Given the description of an element on the screen output the (x, y) to click on. 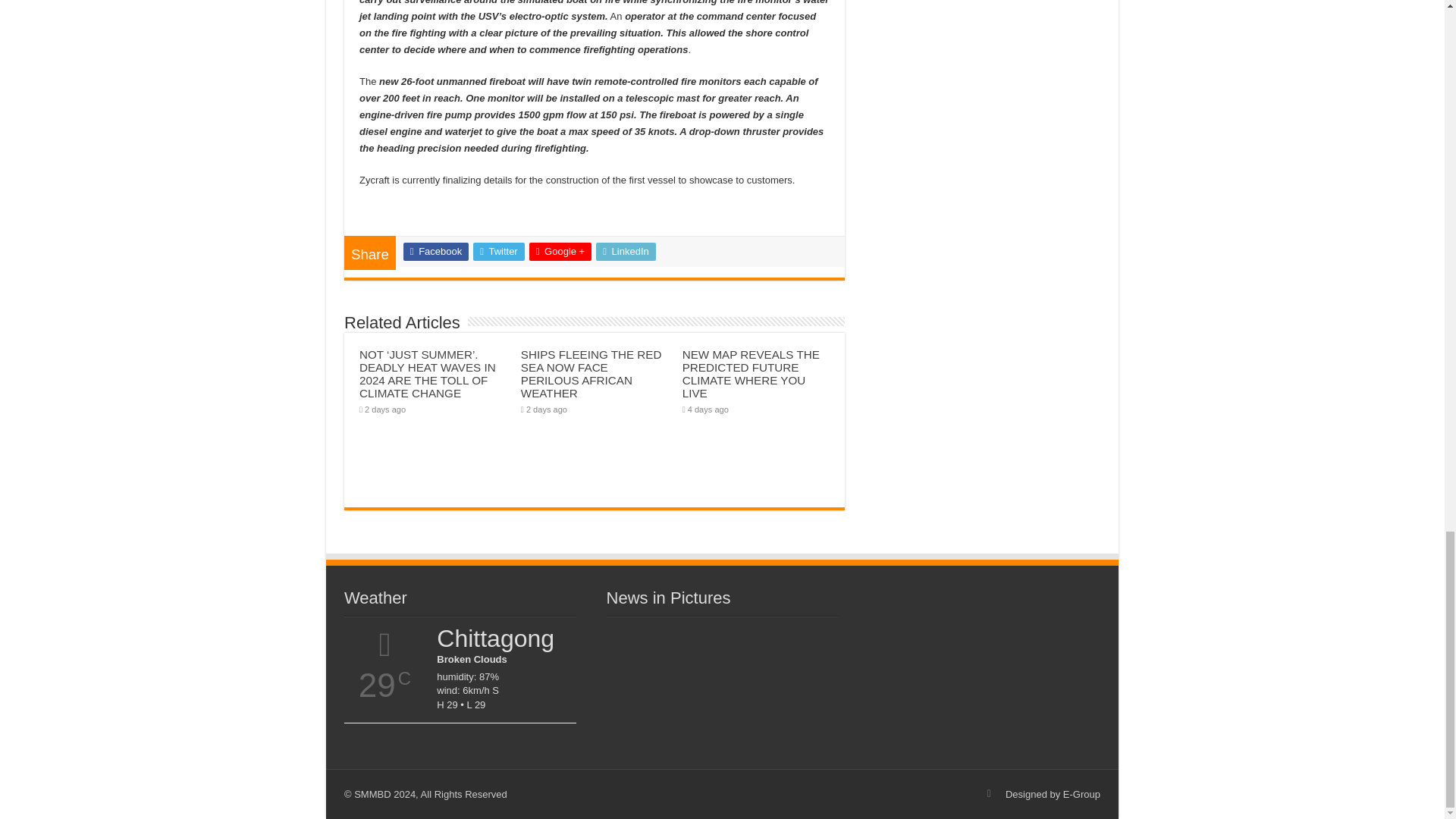
Twitter (498, 251)
Facebook (435, 251)
SHIPS FLEEING THE RED SEA NOW FACE PERILOUS AFRICAN WEATHER (591, 373)
LinkedIn (625, 251)
NEW MAP REVEALS THE PREDICTED FUTURE CLIMATE WHERE YOU LIVE (750, 373)
